Given the description of an element on the screen output the (x, y) to click on. 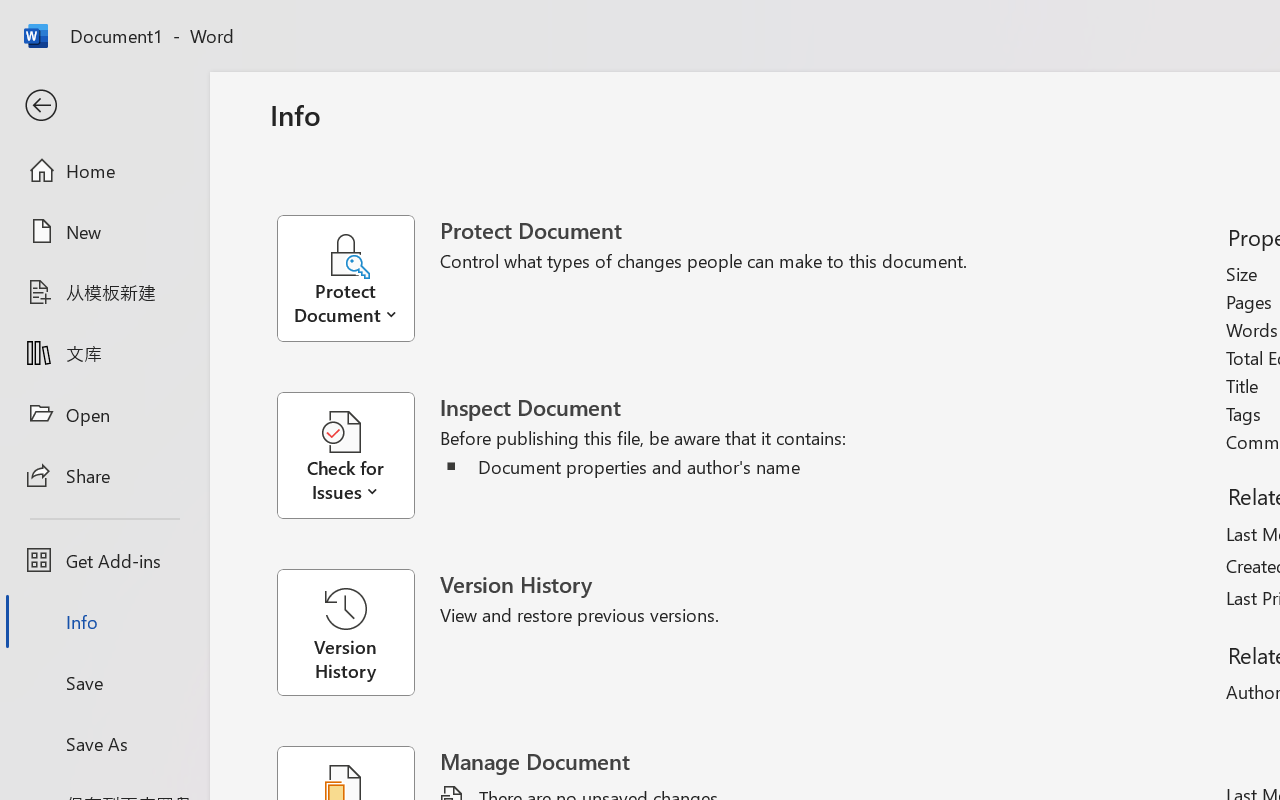
New (104, 231)
Get Add-ins (104, 560)
Back (104, 106)
Check for Issues (358, 455)
Save As (104, 743)
Version History (345, 632)
Info (104, 621)
